Given the description of an element on the screen output the (x, y) to click on. 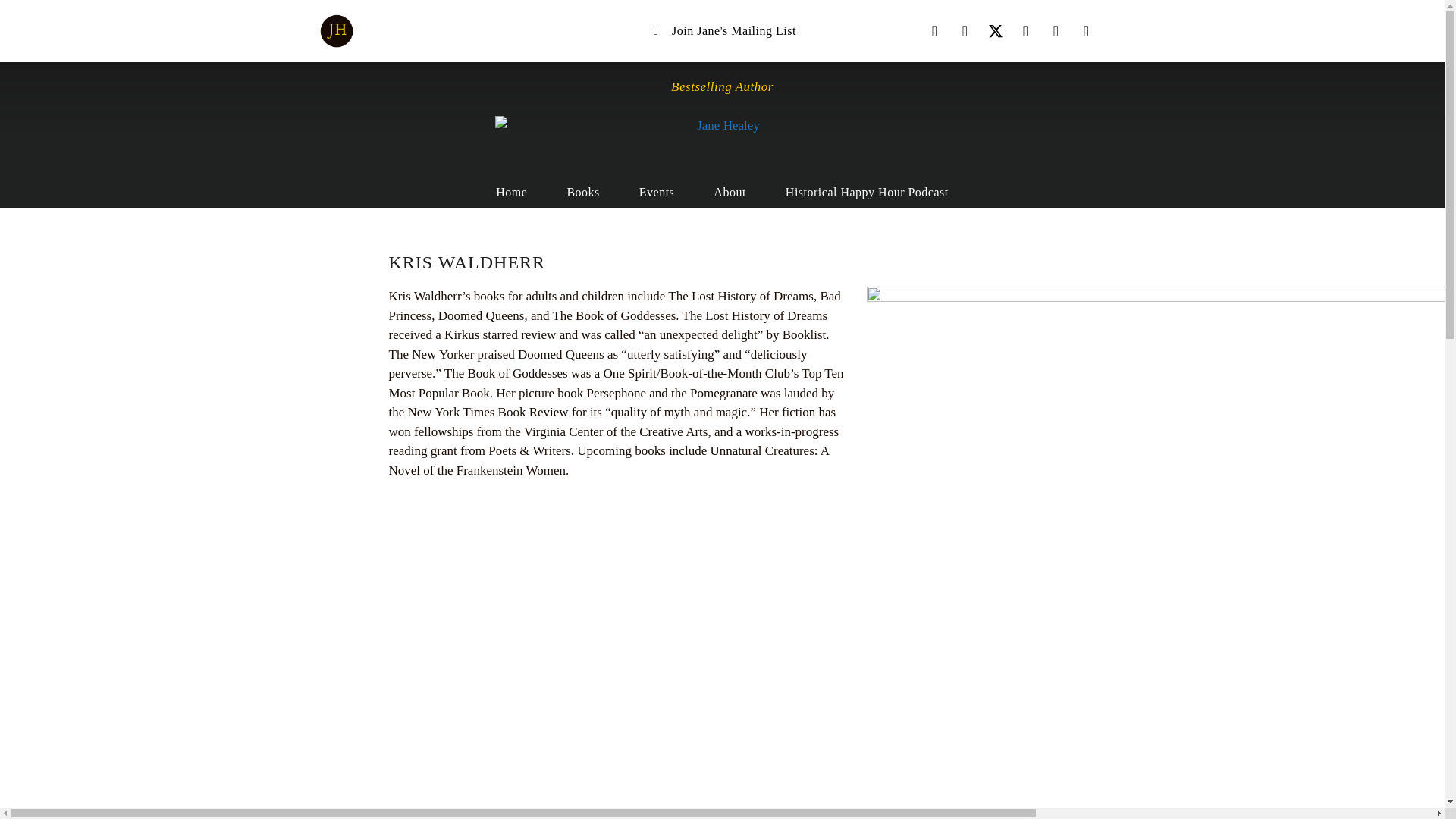
About (729, 192)
Historical Happy Hour Podcast (866, 192)
Events (657, 192)
Home (511, 192)
Books (582, 192)
Join Jane's Mailing List (722, 30)
